Given the description of an element on the screen output the (x, y) to click on. 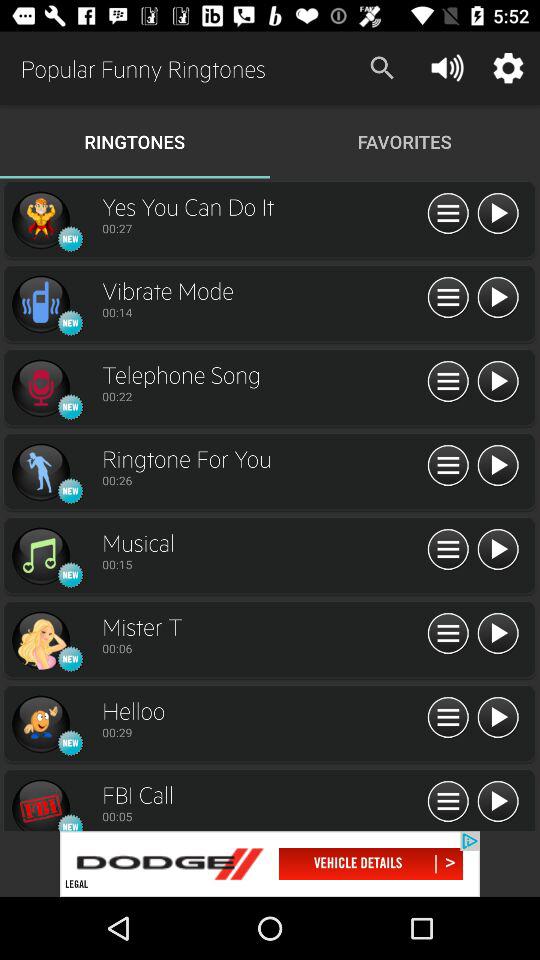
icon of the ringtone (40, 724)
